Given the description of an element on the screen output the (x, y) to click on. 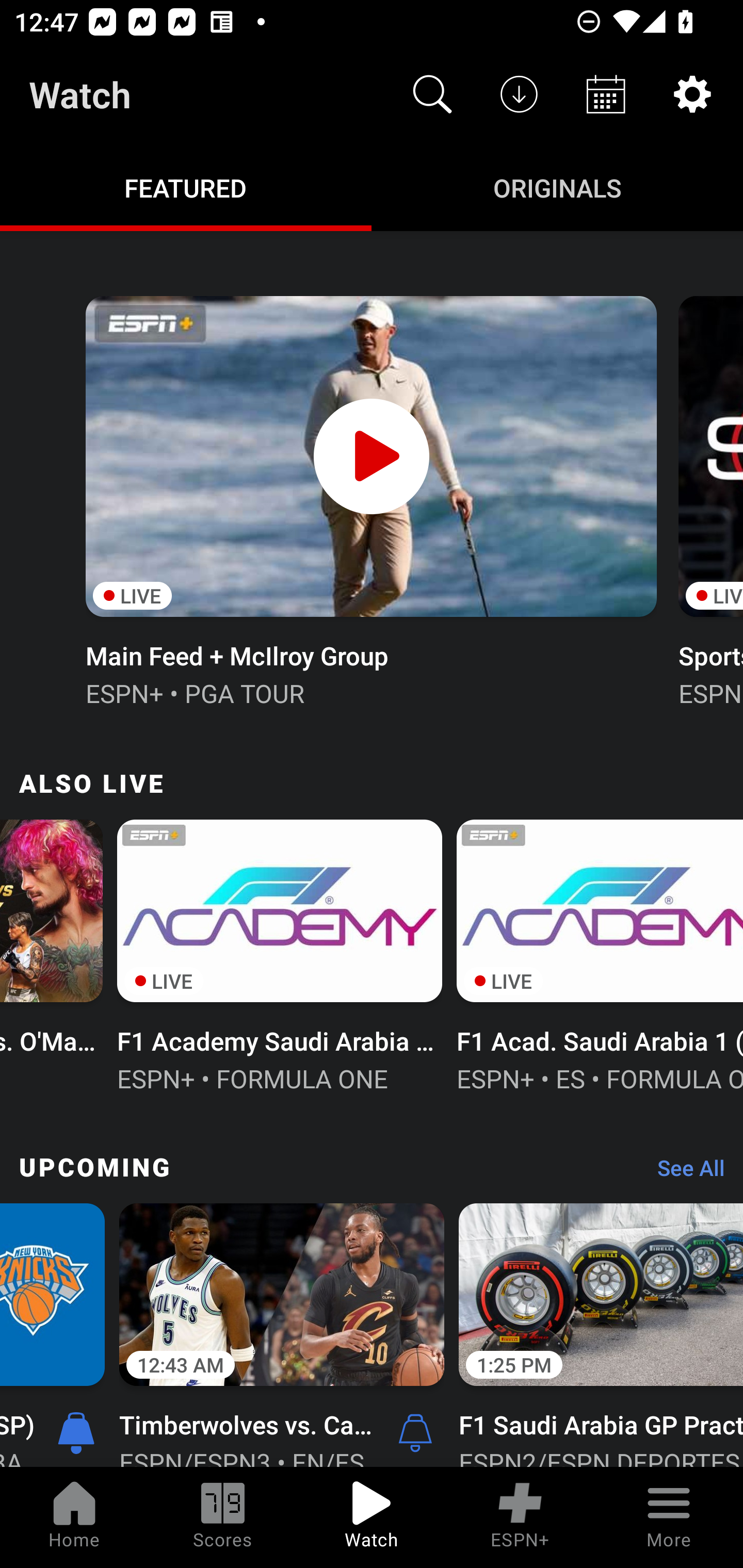
Search (432, 93)
Downloads (518, 93)
Schedule (605, 93)
Settings (692, 93)
Originals ORIGINALS (557, 187)
 LIVE Main Feed + McIlroy Group ESPN+ • PGA TOUR (370, 499)
See All (683, 1172)
Alerts (415, 1432)
Home (74, 1517)
Scores (222, 1517)
ESPN+ (519, 1517)
More (668, 1517)
